Given the description of an element on the screen output the (x, y) to click on. 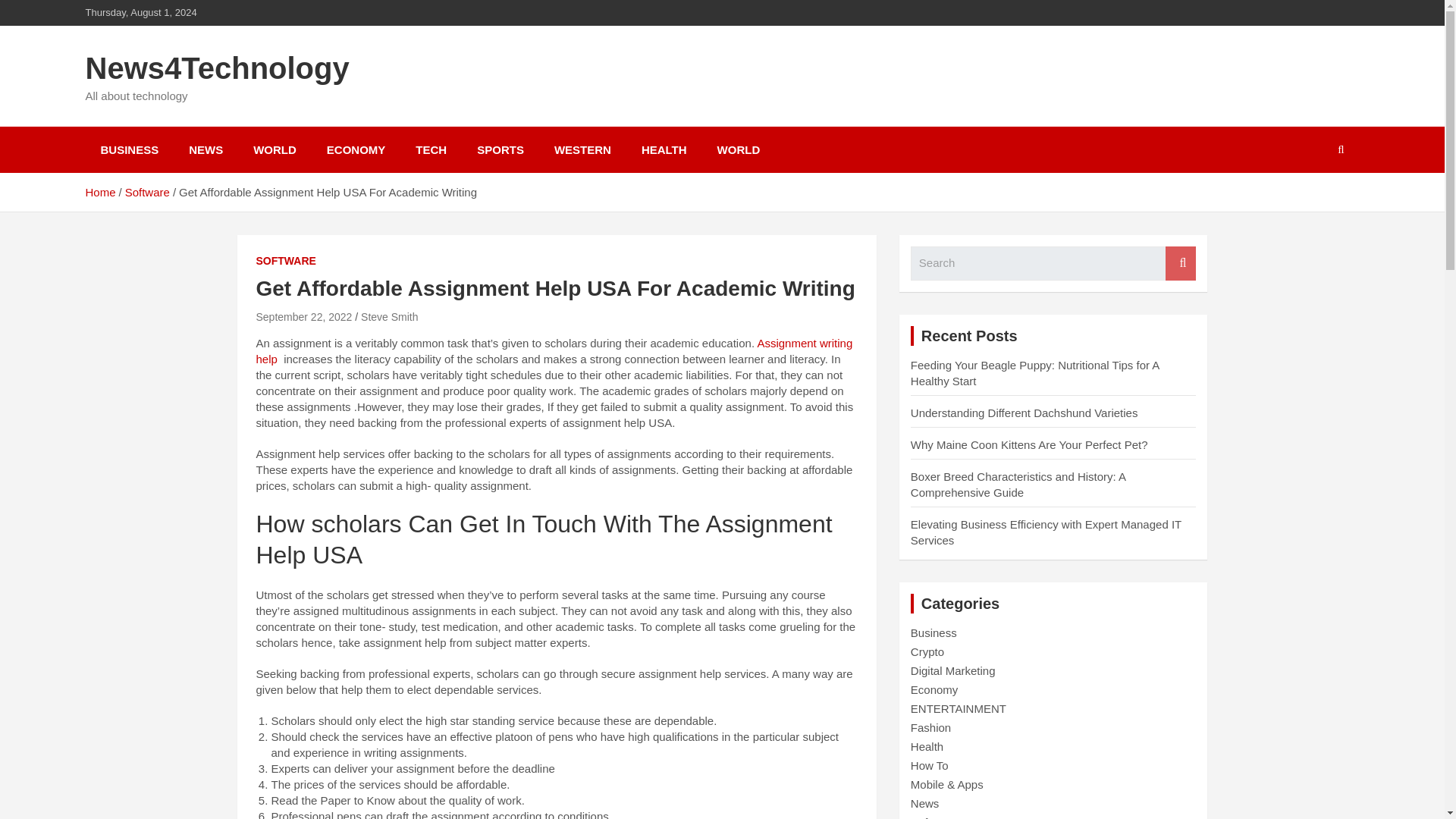
Why Maine Coon Kittens Are Your Perfect Pet? (1029, 444)
ECONOMY (356, 149)
News4Technology (216, 68)
Digital Marketing (953, 670)
Steve Smith (389, 316)
Economy (934, 689)
WORLD (274, 149)
WESTERN (582, 149)
Crypto (927, 651)
BUSINESS (128, 149)
Understanding Different Dachshund Varieties (1024, 412)
HEALTH (663, 149)
Search (1180, 263)
TECH (430, 149)
